Given the description of an element on the screen output the (x, y) to click on. 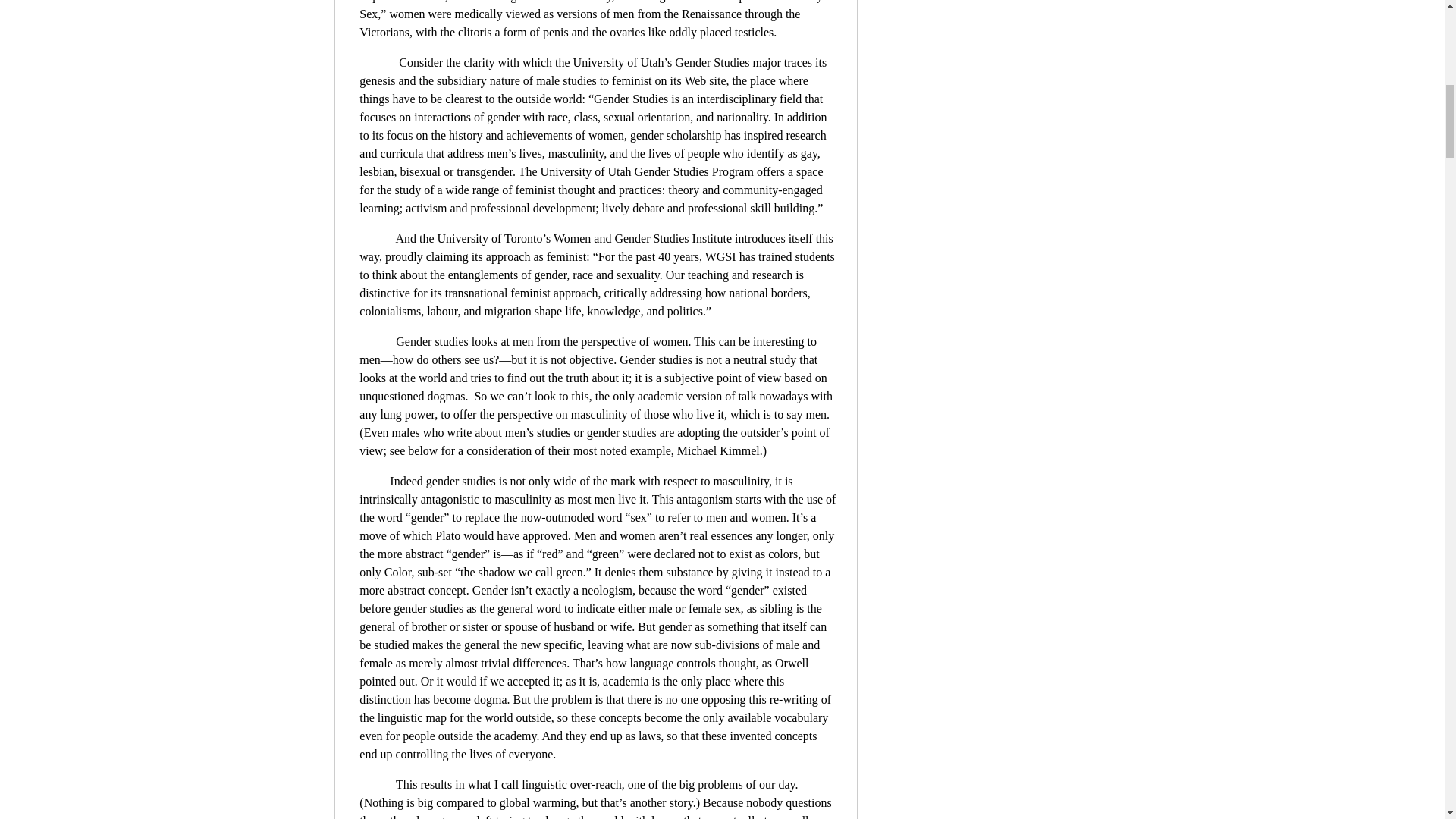
Subscription form (985, 9)
